Given the description of an element on the screen output the (x, y) to click on. 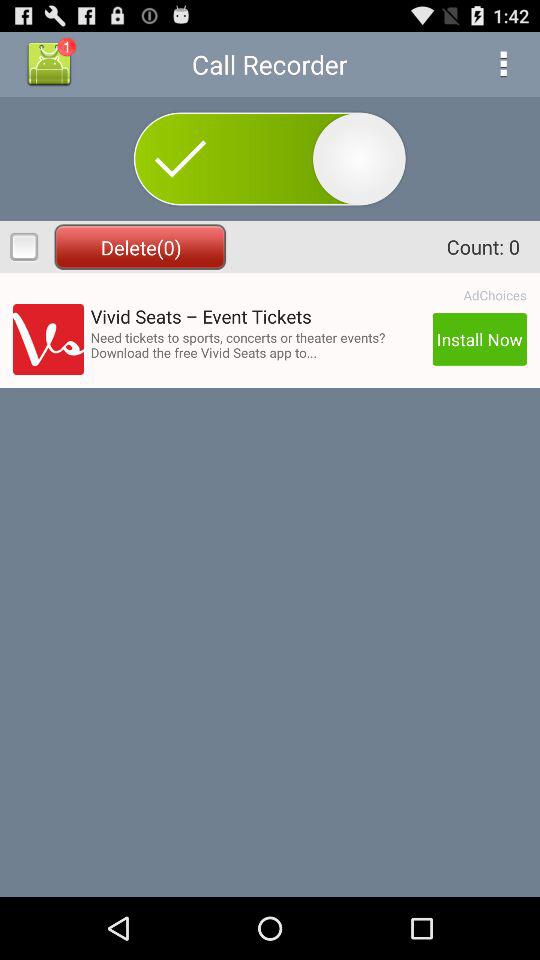
click the app next to call recorder app (503, 64)
